Given the description of an element on the screen output the (x, y) to click on. 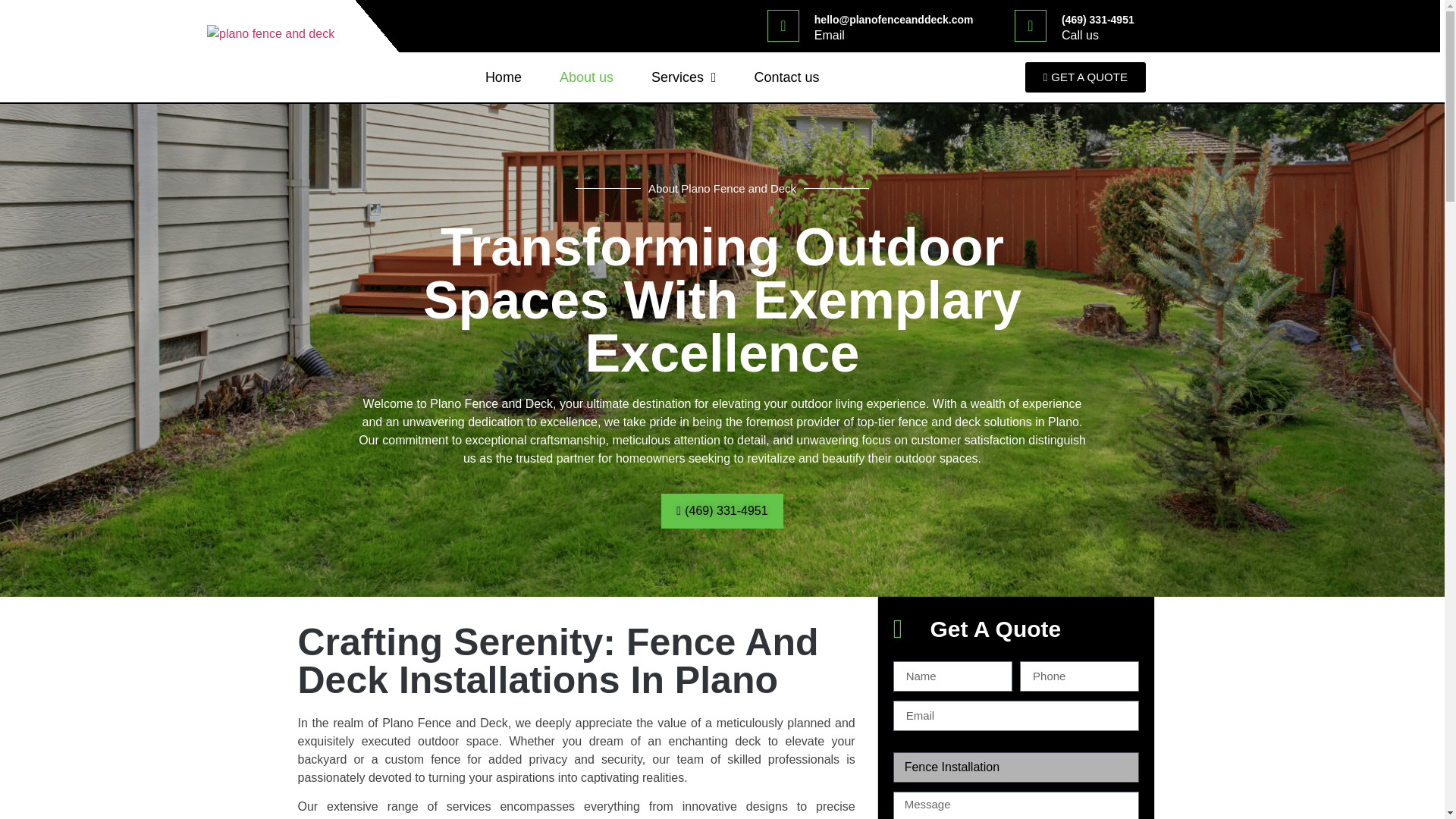
Home (502, 77)
Services (683, 77)
About us (585, 77)
